Given the description of an element on the screen output the (x, y) to click on. 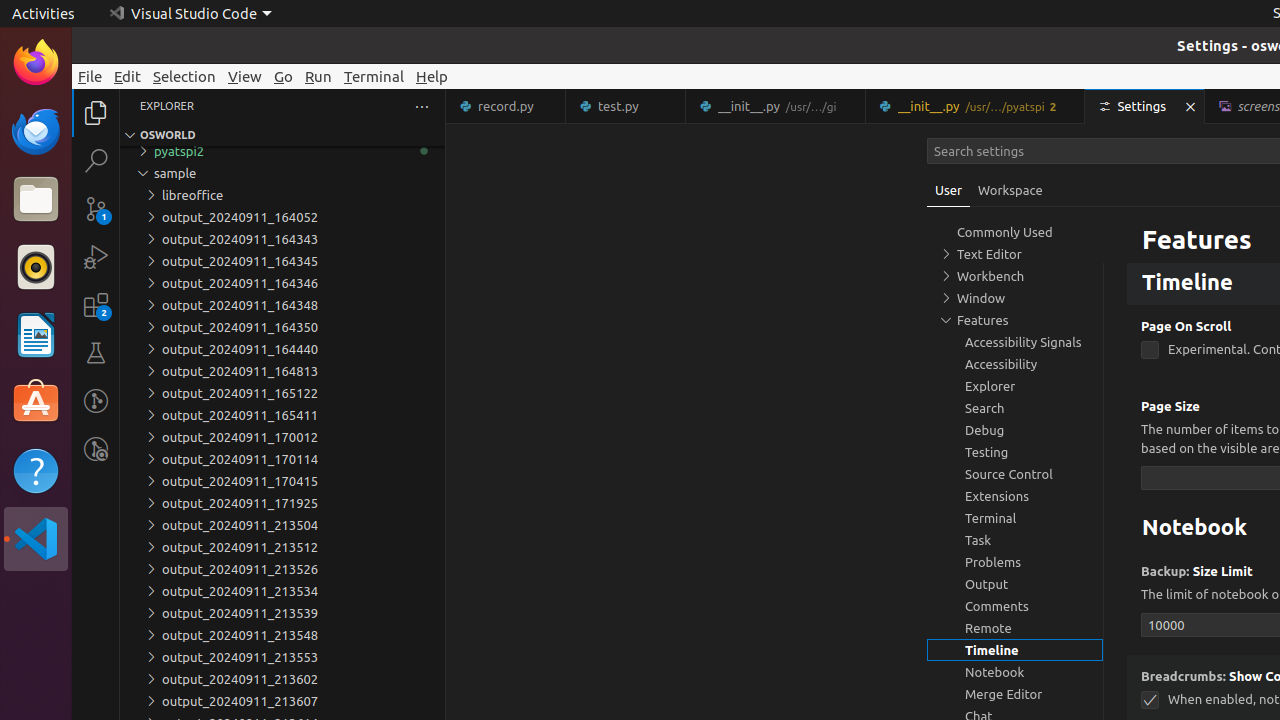
Testing Element type: page-tab (96, 353)
output_20240911_171925 Element type: tree-item (282, 503)
Features, group Element type: tree-item (1015, 320)
User Element type: check-box (949, 190)
